Given the description of an element on the screen output the (x, y) to click on. 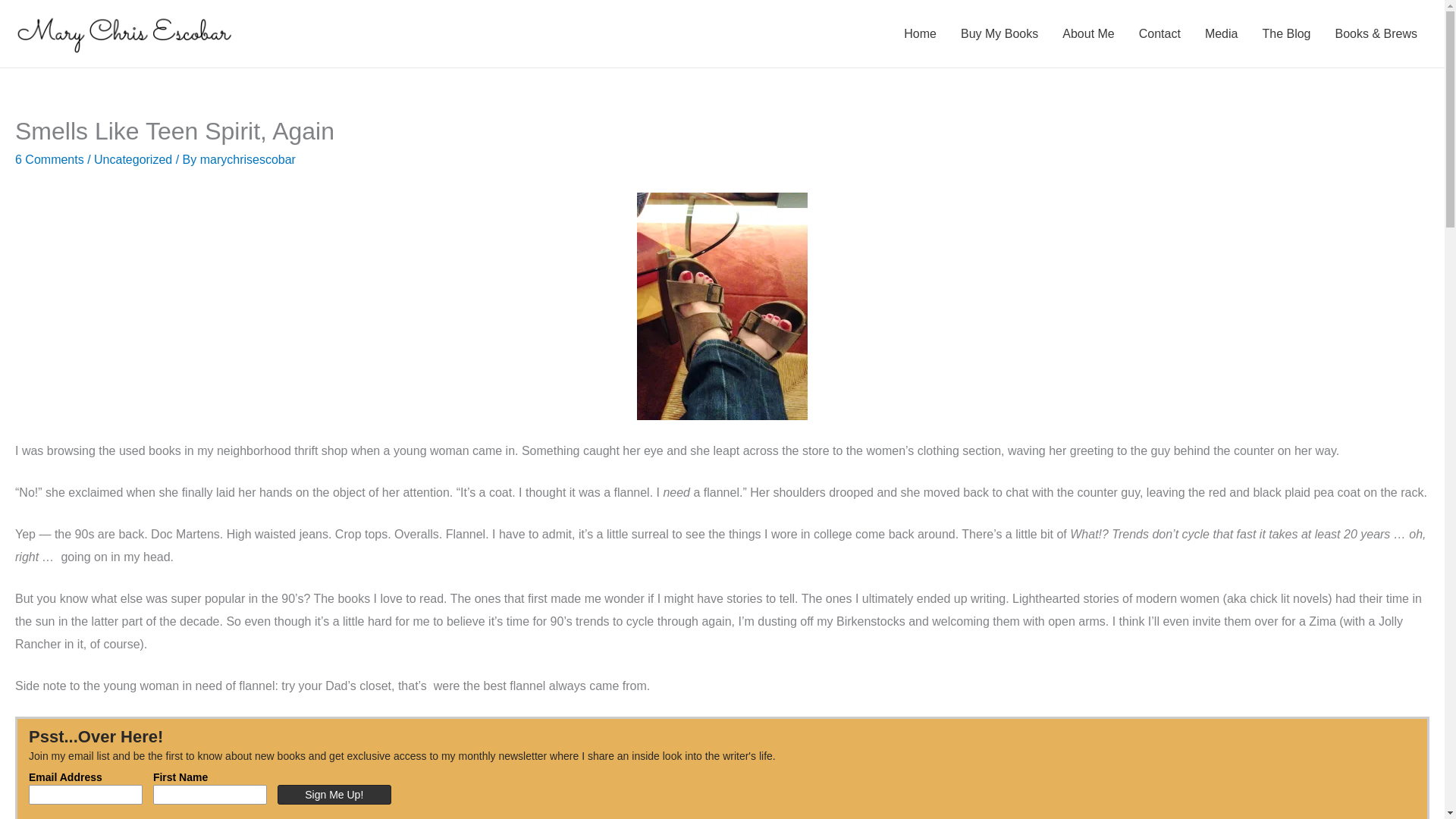
Sign Me Up! (334, 794)
About Me (1087, 33)
Uncategorized (132, 159)
Buy My Books (999, 33)
marychrisescobar (247, 159)
View all posts by marychrisescobar (247, 159)
Contact (1159, 33)
The Blog (1285, 33)
6 Comments (49, 159)
Sign Me Up! (334, 794)
